Given the description of an element on the screen output the (x, y) to click on. 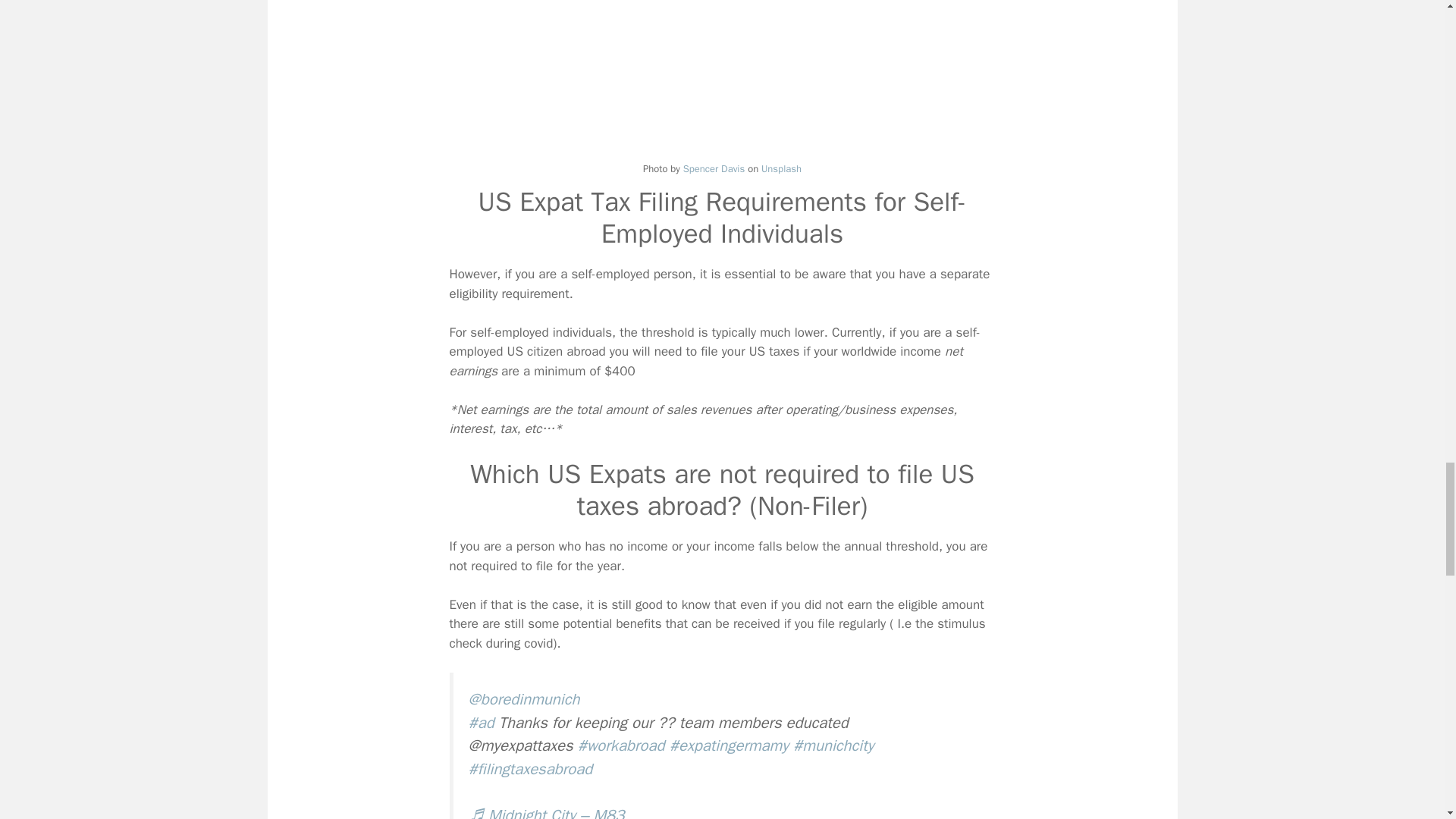
workabroad (621, 745)
The Easiest Way to File Taxes for a US Expat in Germany (721, 78)
filingtaxesabroad (530, 768)
munichcity (833, 745)
expatingermamy (729, 745)
ad (481, 722)
